Given the description of an element on the screen output the (x, y) to click on. 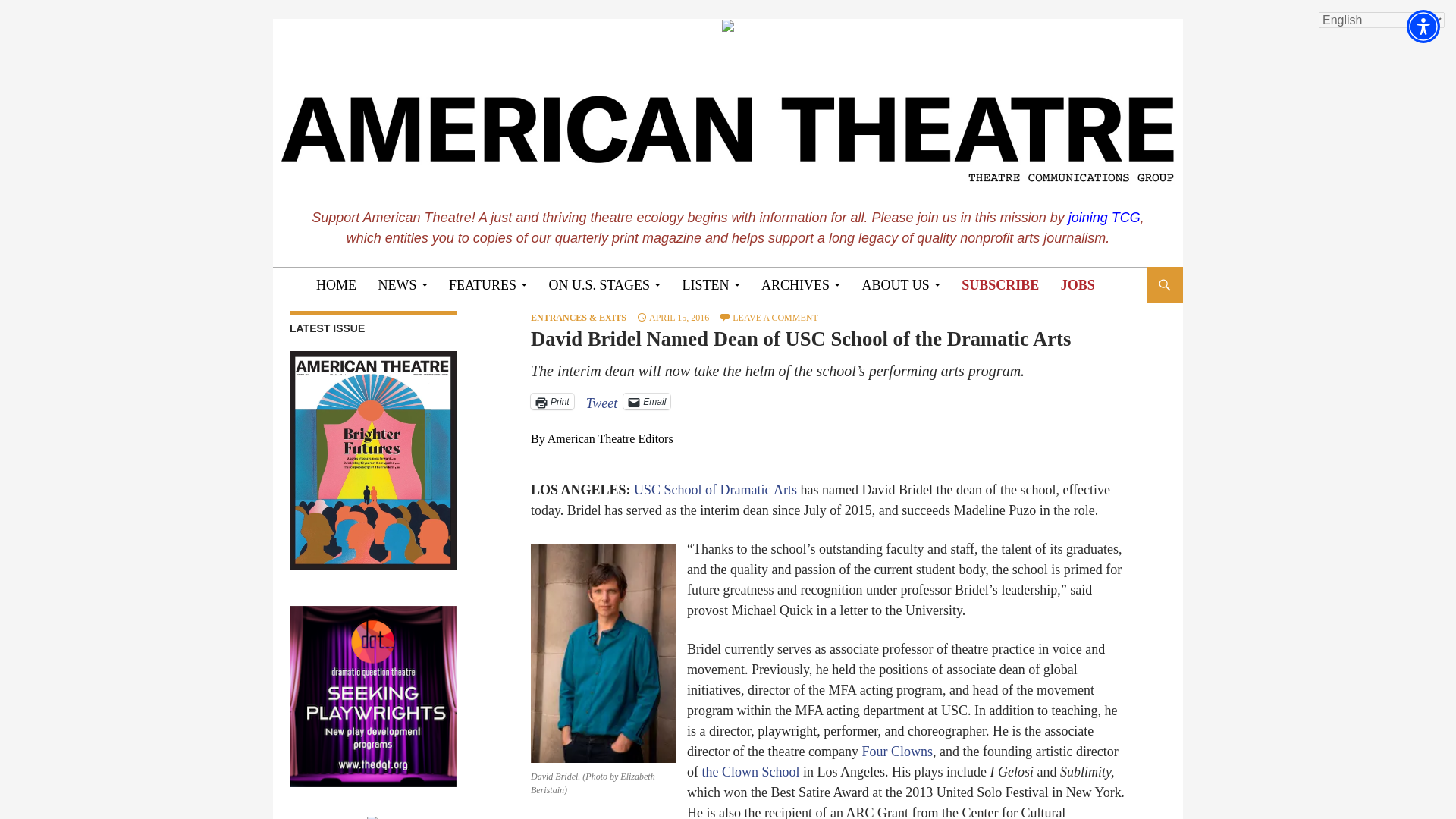
LISTEN (710, 284)
SUBSCRIBE (1000, 284)
Click to print (552, 401)
Click to email a link to a friend (646, 401)
ON U.S. STAGES (604, 284)
ARCHIVES (800, 284)
FEATURES (487, 284)
JOBS (1077, 284)
ABOUT US (901, 284)
Accessibility Menu (1422, 26)
NEWS (401, 284)
joining TCG (1104, 217)
AMERICAN THEATRE (409, 284)
